Given the description of an element on the screen output the (x, y) to click on. 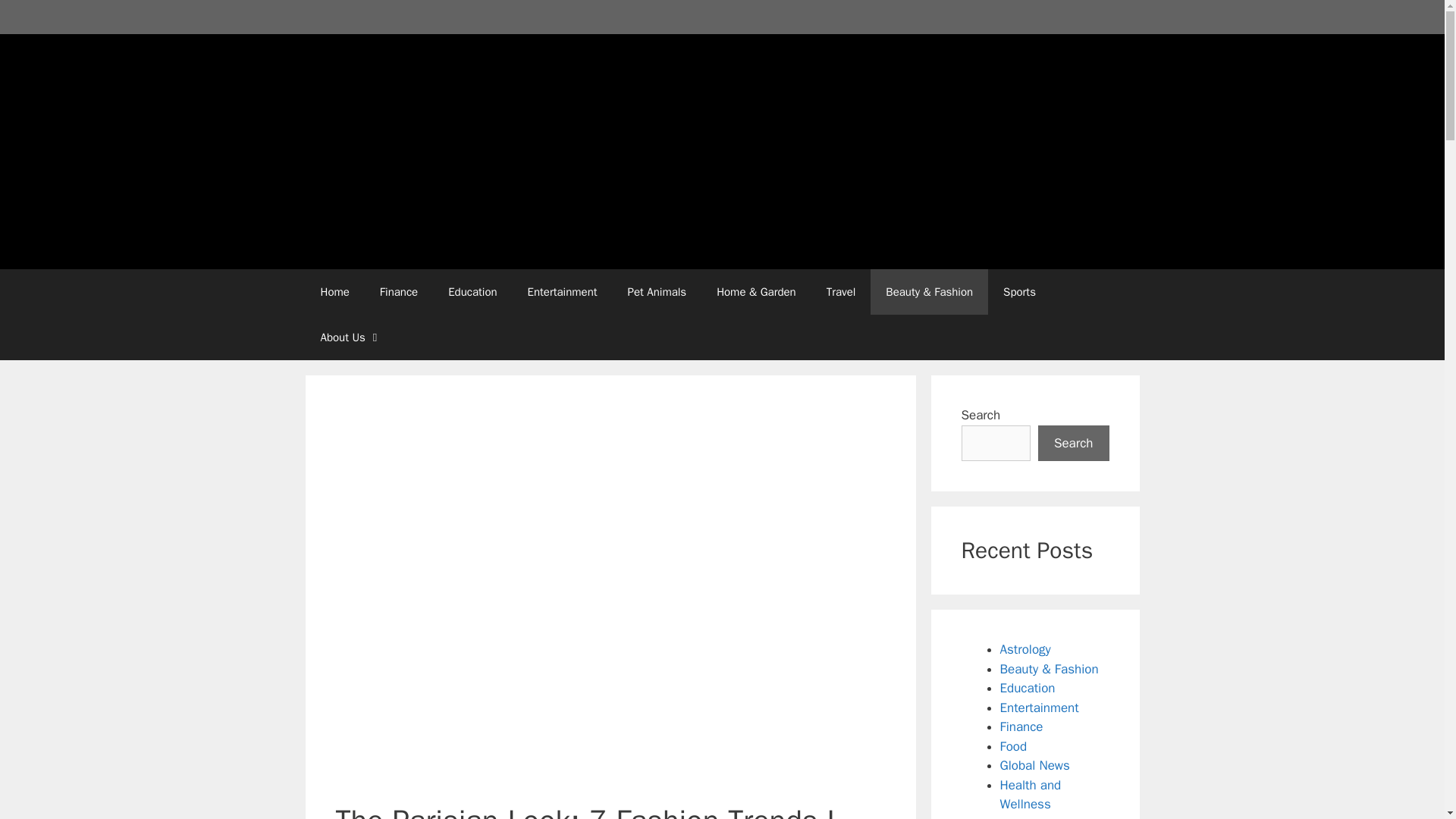
Education (472, 291)
Travel (840, 291)
Entertainment (1038, 706)
Sports (1019, 291)
Food (1012, 746)
Finance (398, 291)
Pet Animals (656, 291)
About Us (350, 337)
Education (1026, 688)
Finance (1020, 726)
Health and Wellness (1029, 794)
Search (1073, 443)
Entertainment (562, 291)
Home (334, 291)
Global News (1033, 765)
